Given the description of an element on the screen output the (x, y) to click on. 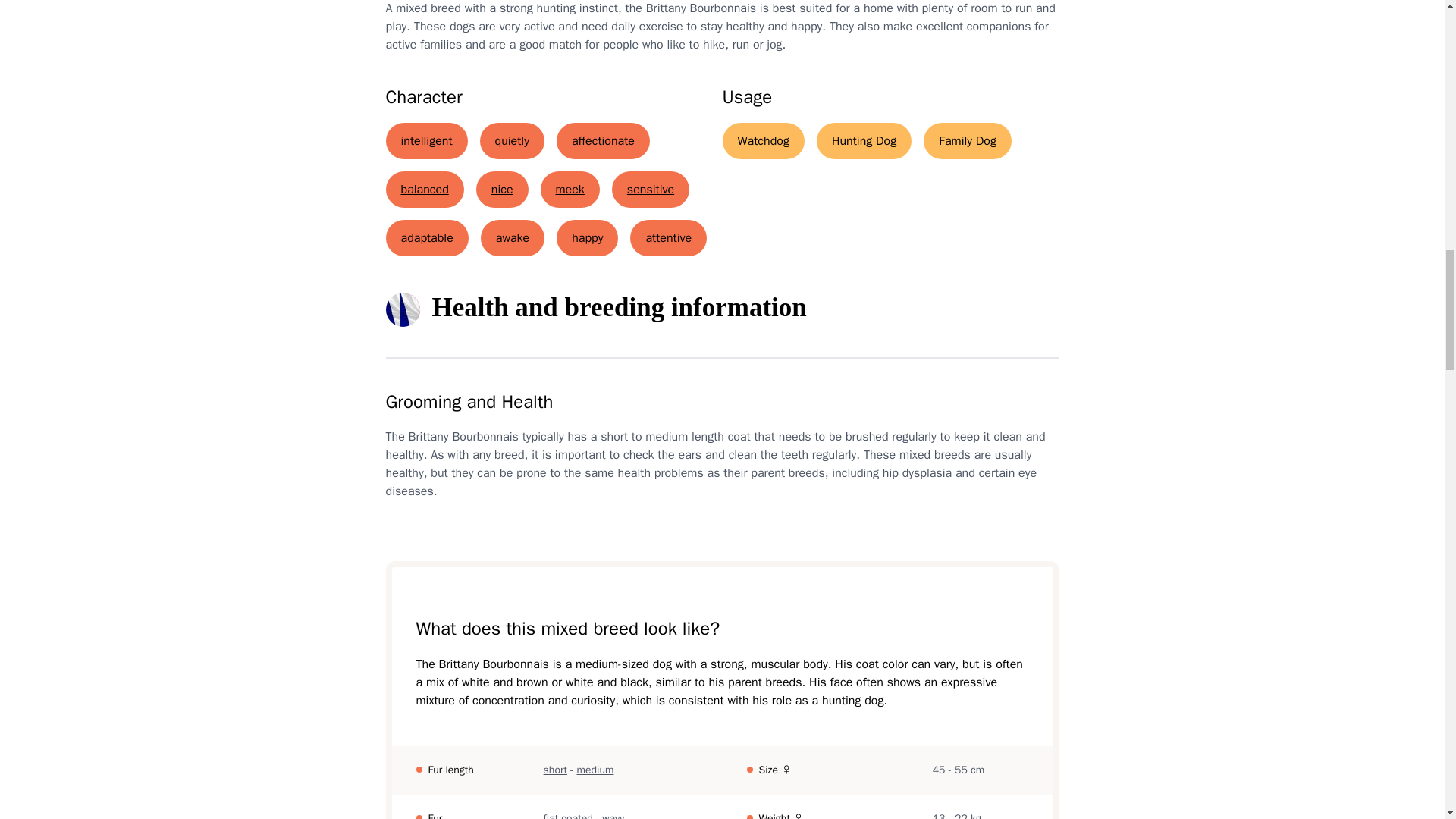
awake (512, 238)
balanced (424, 189)
intelligent (426, 140)
quietly (512, 140)
sensitive (649, 189)
affectionate (602, 140)
meek (569, 189)
nice (502, 189)
adaptable (426, 238)
